Given the description of an element on the screen output the (x, y) to click on. 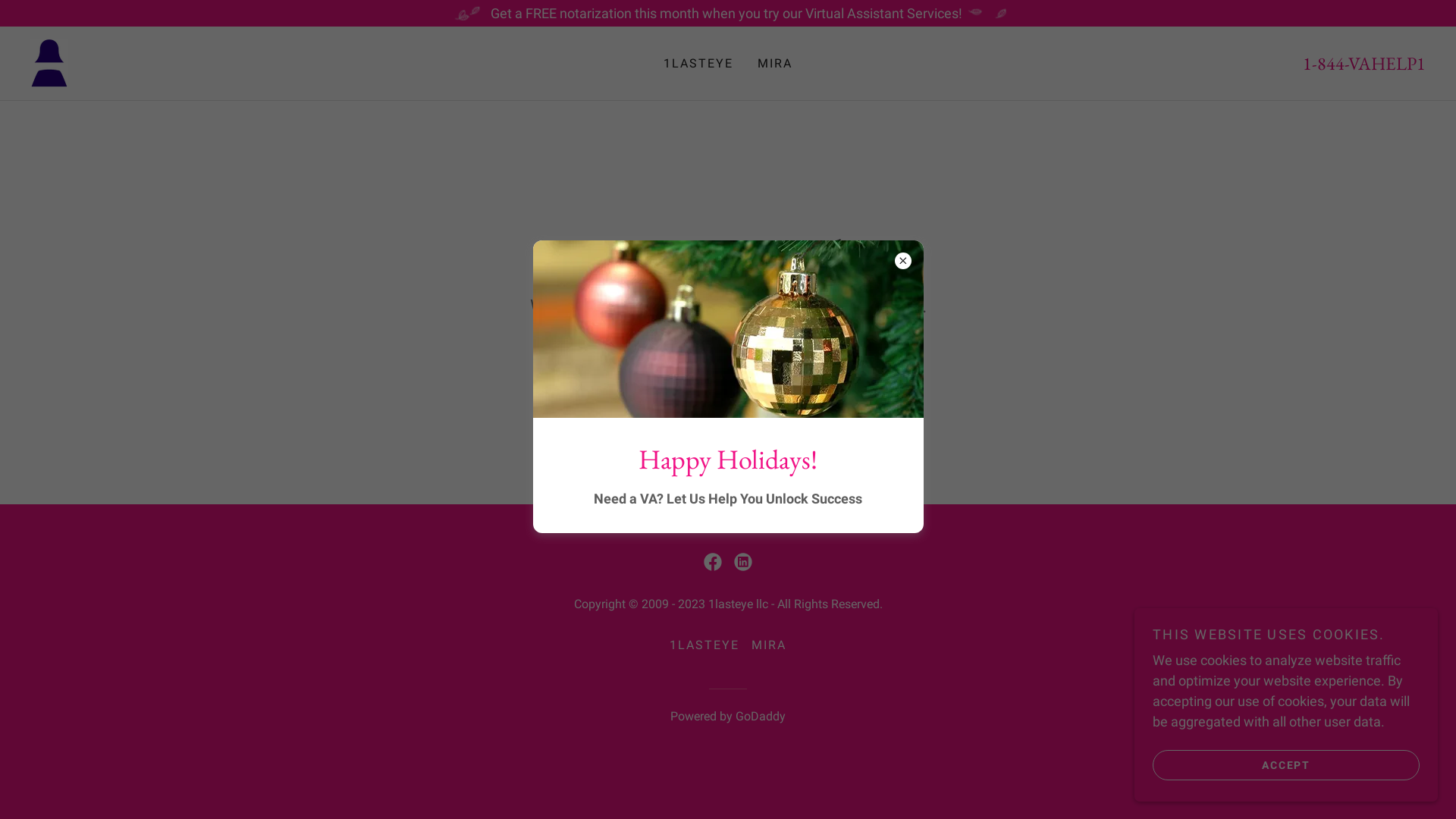
MIRA Element type: text (775, 63)
ACCEPT Element type: text (1285, 764)
1LASTEYE Element type: text (697, 63)
GO TO HOME PAGE Element type: text (727, 359)
GoDaddy Element type: text (760, 716)
1-844 Element type: text (1323, 63)
MIRA Element type: text (768, 644)
1LASTEYE Element type: text (704, 644)
